Given the description of an element on the screen output the (x, y) to click on. 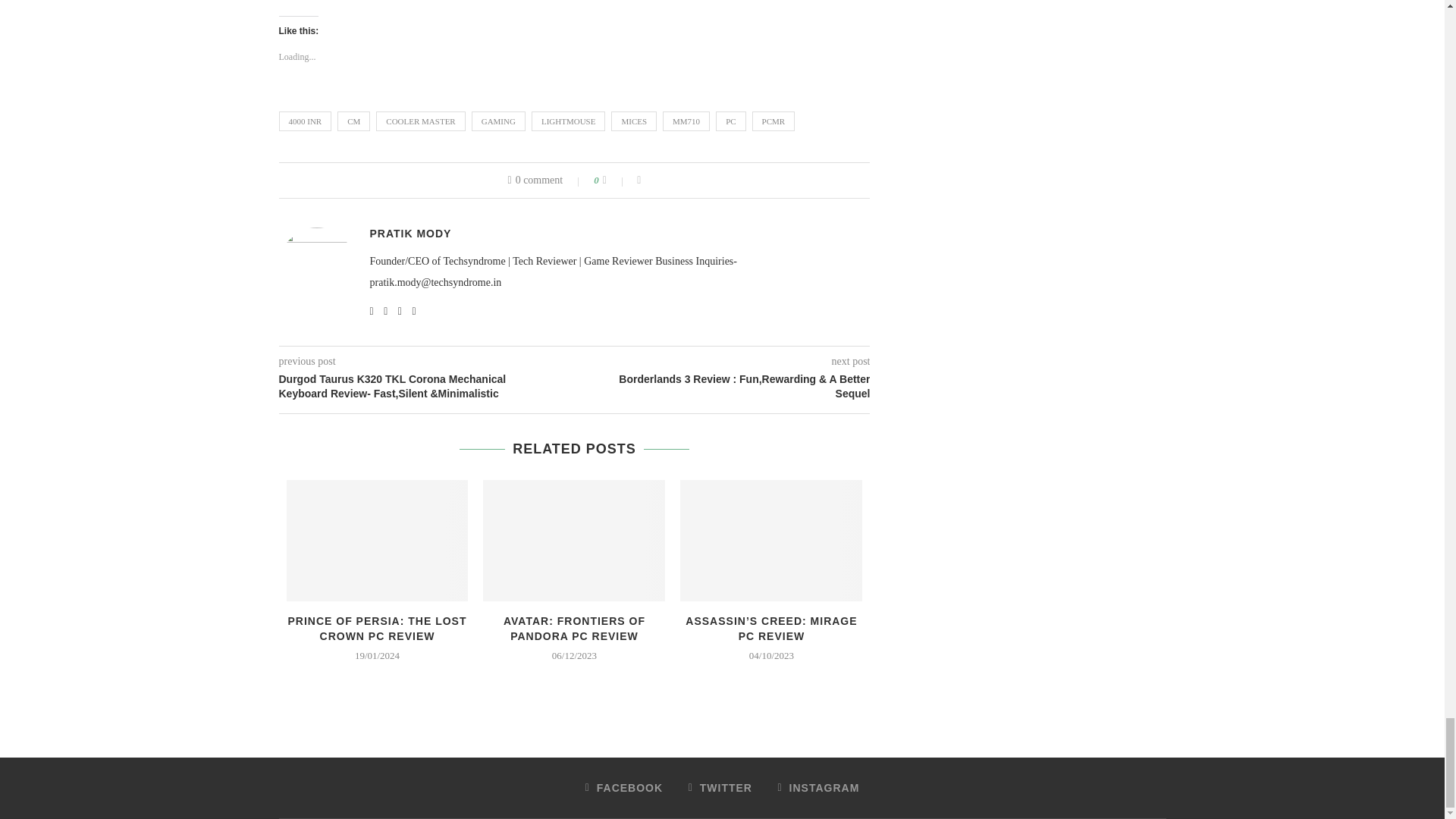
Author Pratik Mody (410, 233)
Like (614, 180)
Avatar: Frontiers of Pandora PC Review (574, 540)
Prince of Persia: The Lost Crown PC Review (377, 540)
